Given the description of an element on the screen output the (x, y) to click on. 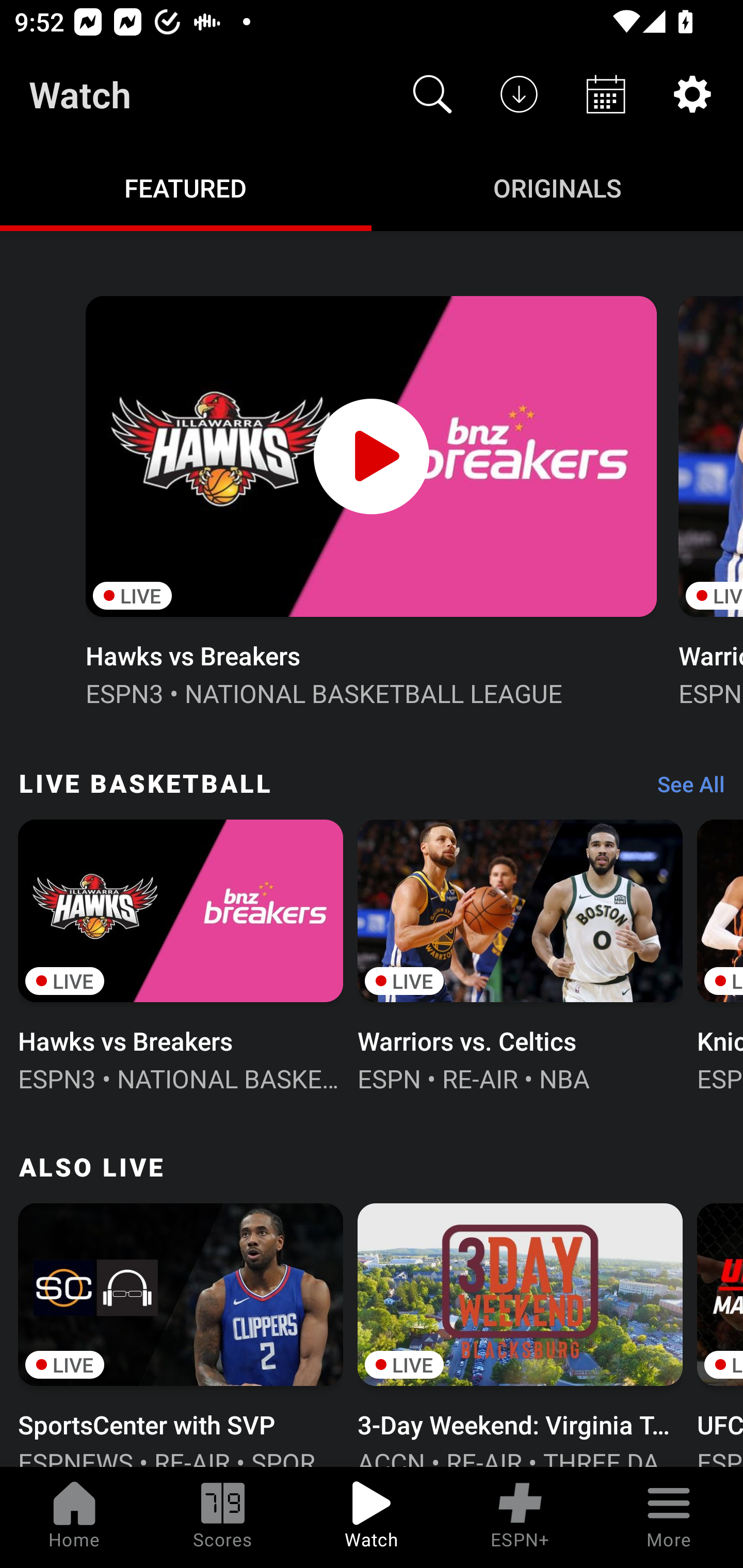
Search (432, 93)
Downloads (518, 93)
Schedule (605, 93)
Settings (692, 93)
Originals ORIGINALS (557, 187)
See All (683, 788)
LIVE Warriors vs. Celtics ESPN • RE-AIR • NBA (519, 954)
Home (74, 1517)
Scores (222, 1517)
ESPN+ (519, 1517)
More (668, 1517)
